Given the description of an element on the screen output the (x, y) to click on. 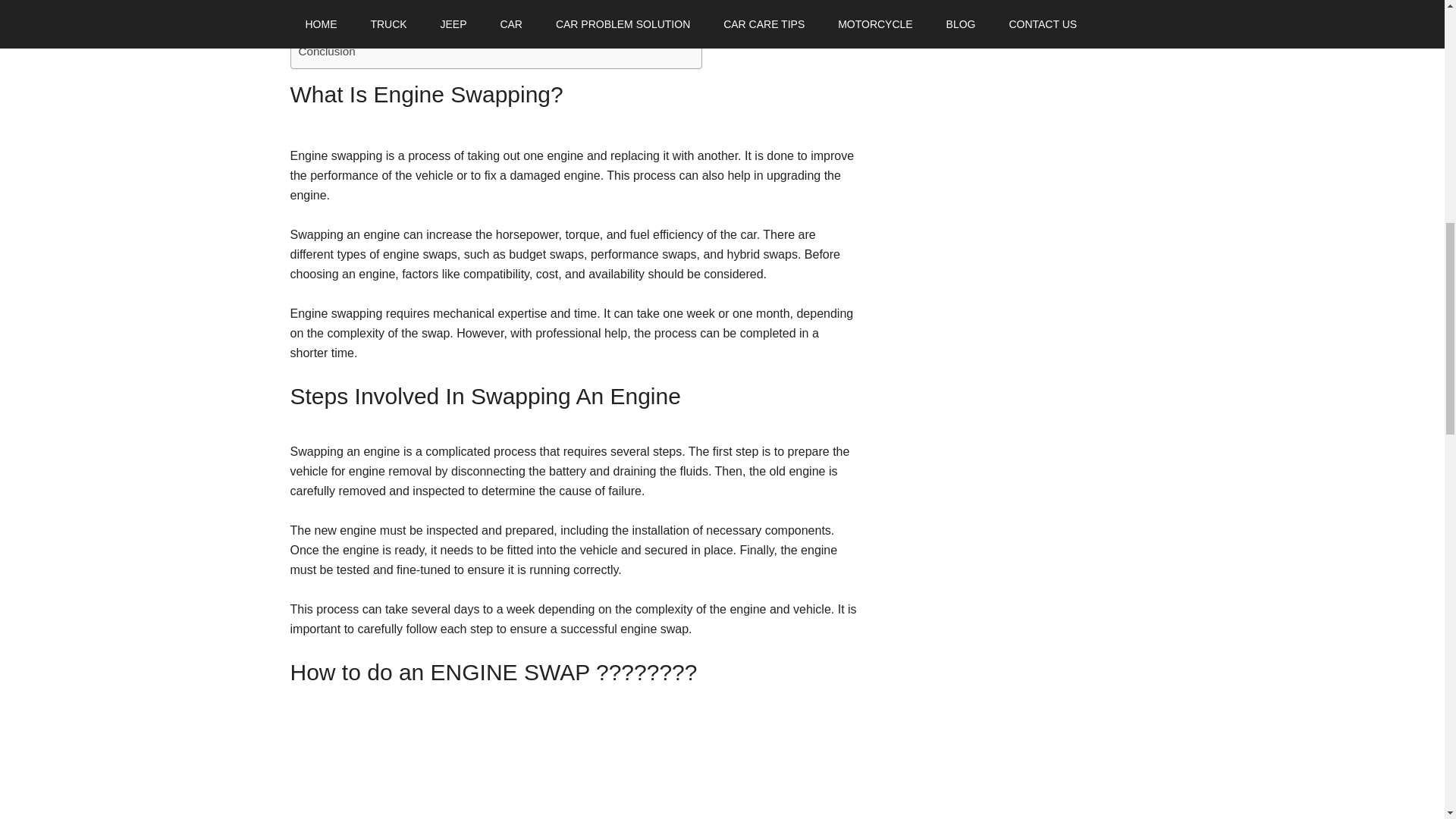
Conclusion (326, 51)
How Long Does It Take To Swap An Engine? (412, 33)
Timeframe For Completing An Engine Swap (410, 2)
How Long Does It Take To Swap An Engine? (412, 33)
Timeframe For Completing An Engine Swap (410, 2)
Conclusion (326, 51)
